Given the description of an element on the screen output the (x, y) to click on. 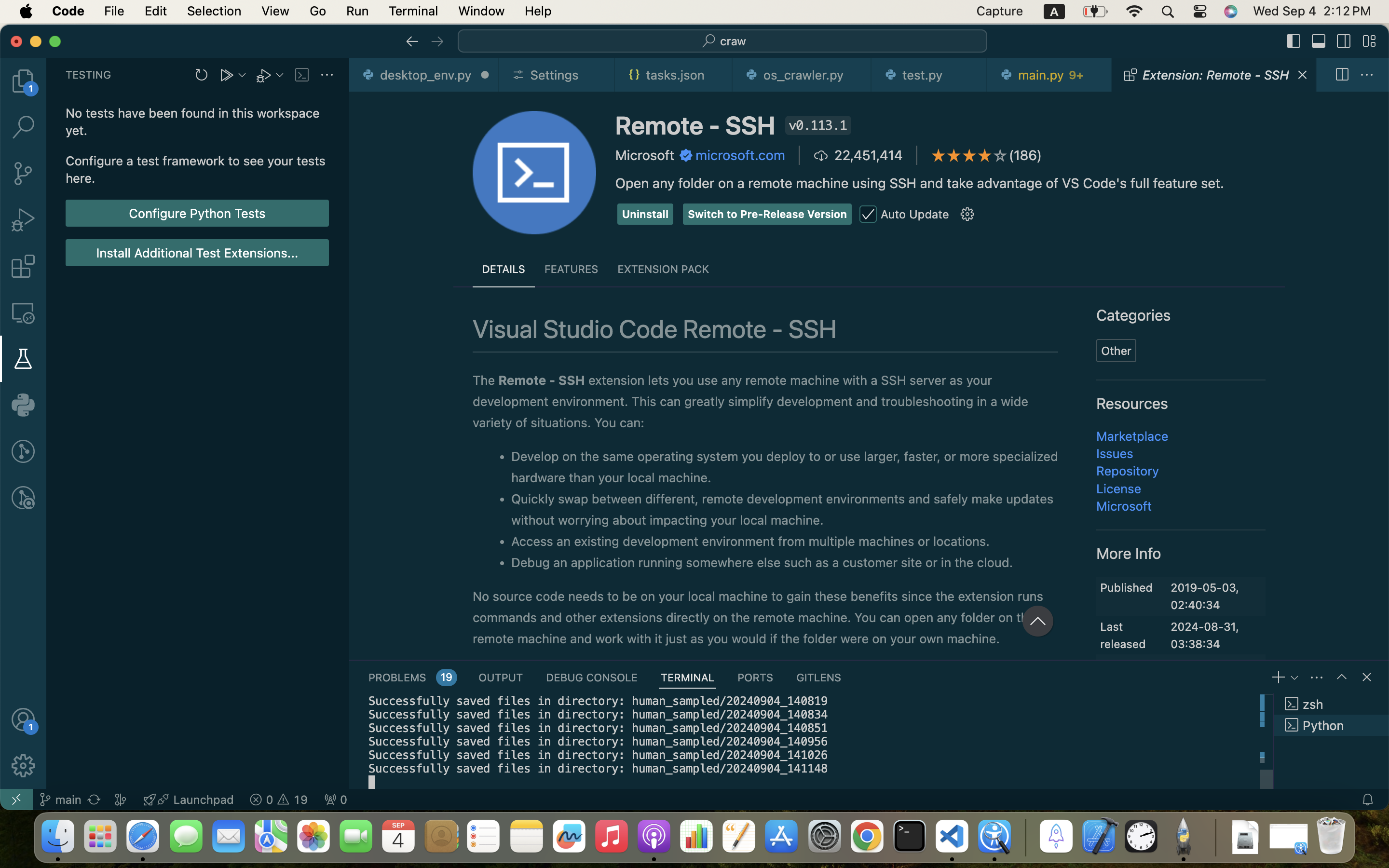
TESTING Element type: AXStaticText (88, 74)
v0.113.1 Element type: AXStaticText (818, 125)
1 Extension: Remote - SSH   Element type: AXRadioButton (1214, 74)
 Element type: AXGroup (23, 497)
0  Element type: AXRadioButton (23, 266)
